Given the description of an element on the screen output the (x, y) to click on. 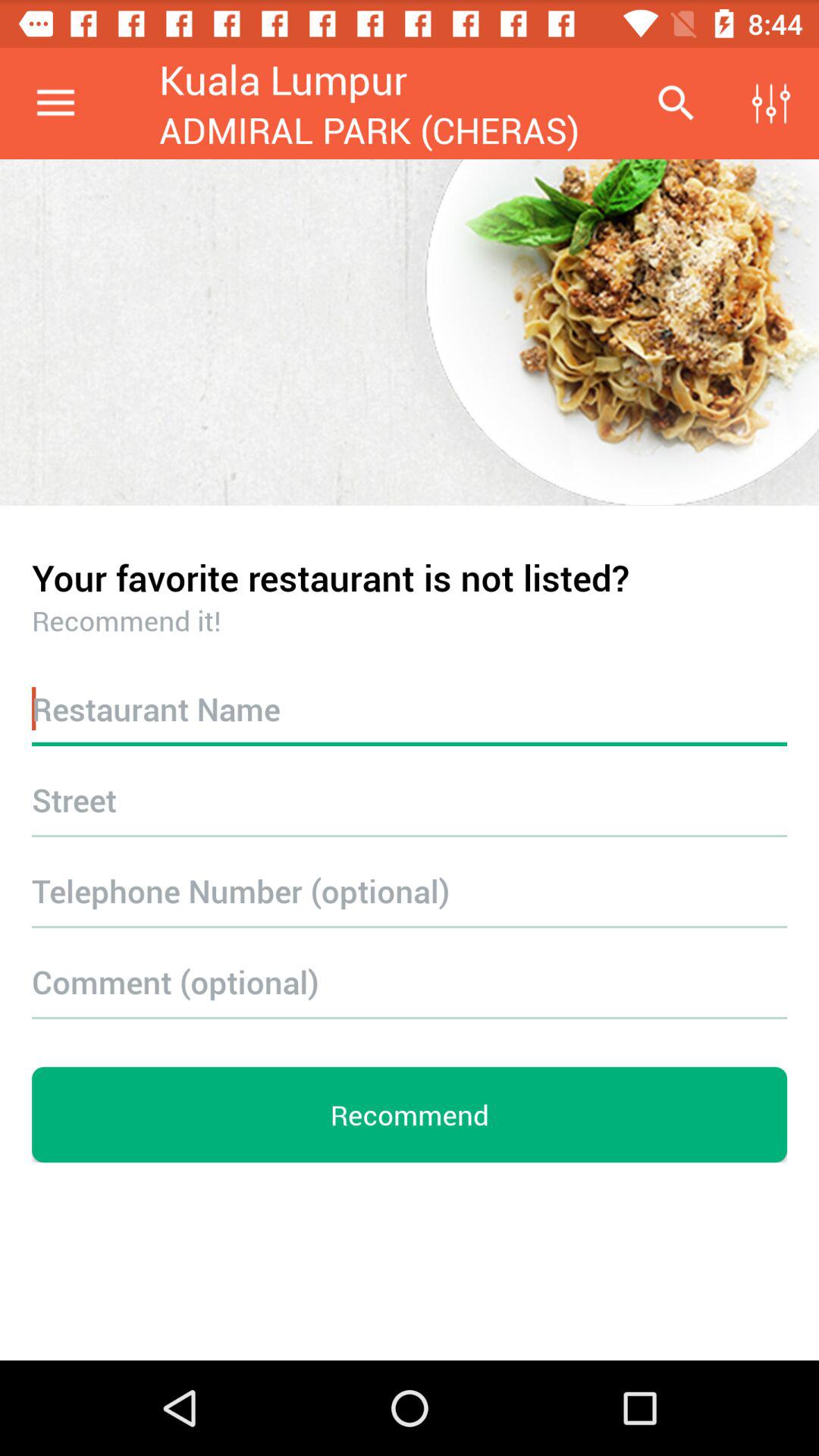
to add comment (409, 981)
